Given the description of an element on the screen output the (x, y) to click on. 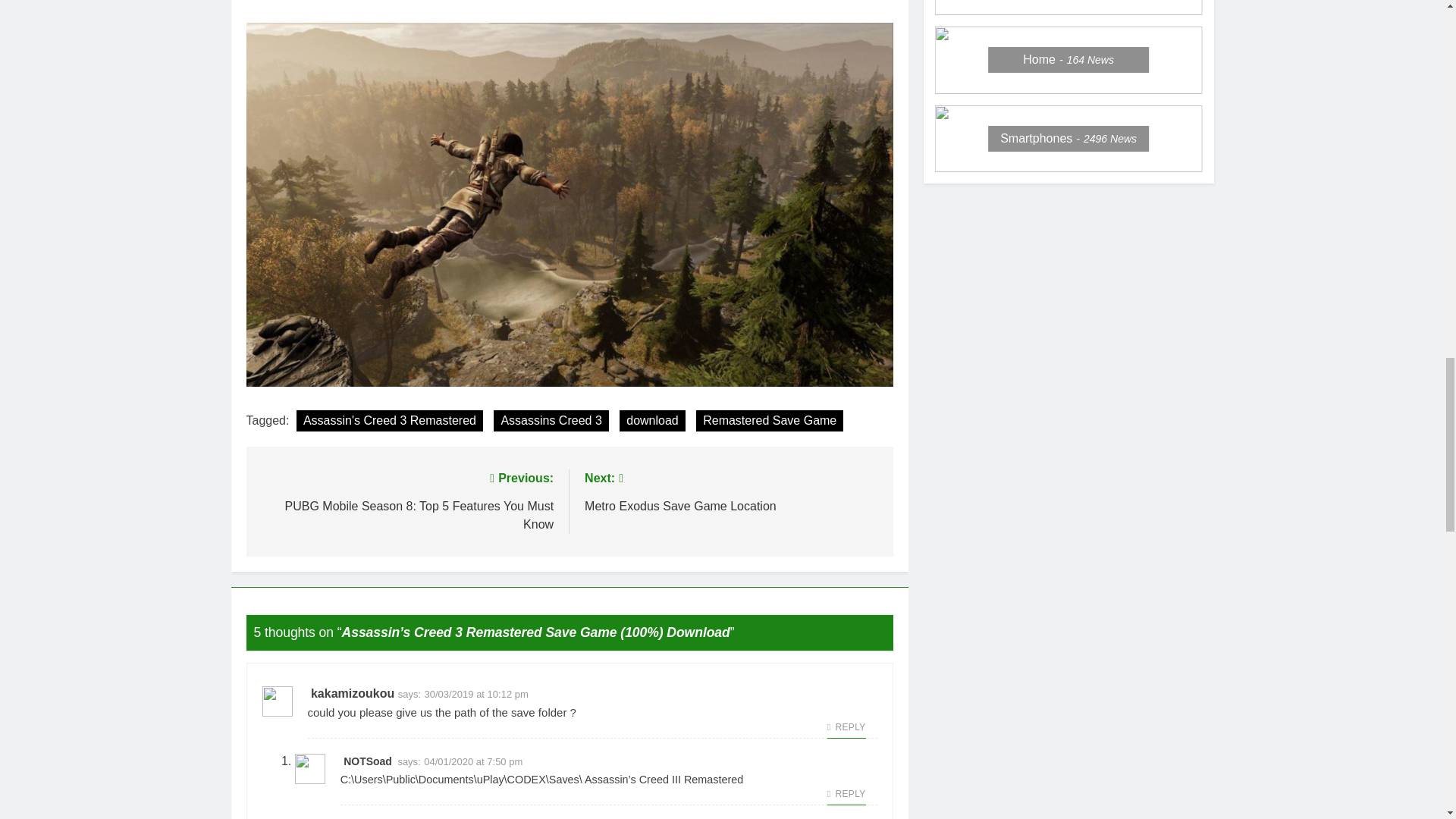
REPLY (846, 726)
Remastered Save Game (769, 420)
download (731, 490)
Assassin's Creed 3 Remastered (652, 420)
Assassins Creed 3 (390, 420)
